Given the description of an element on the screen output the (x, y) to click on. 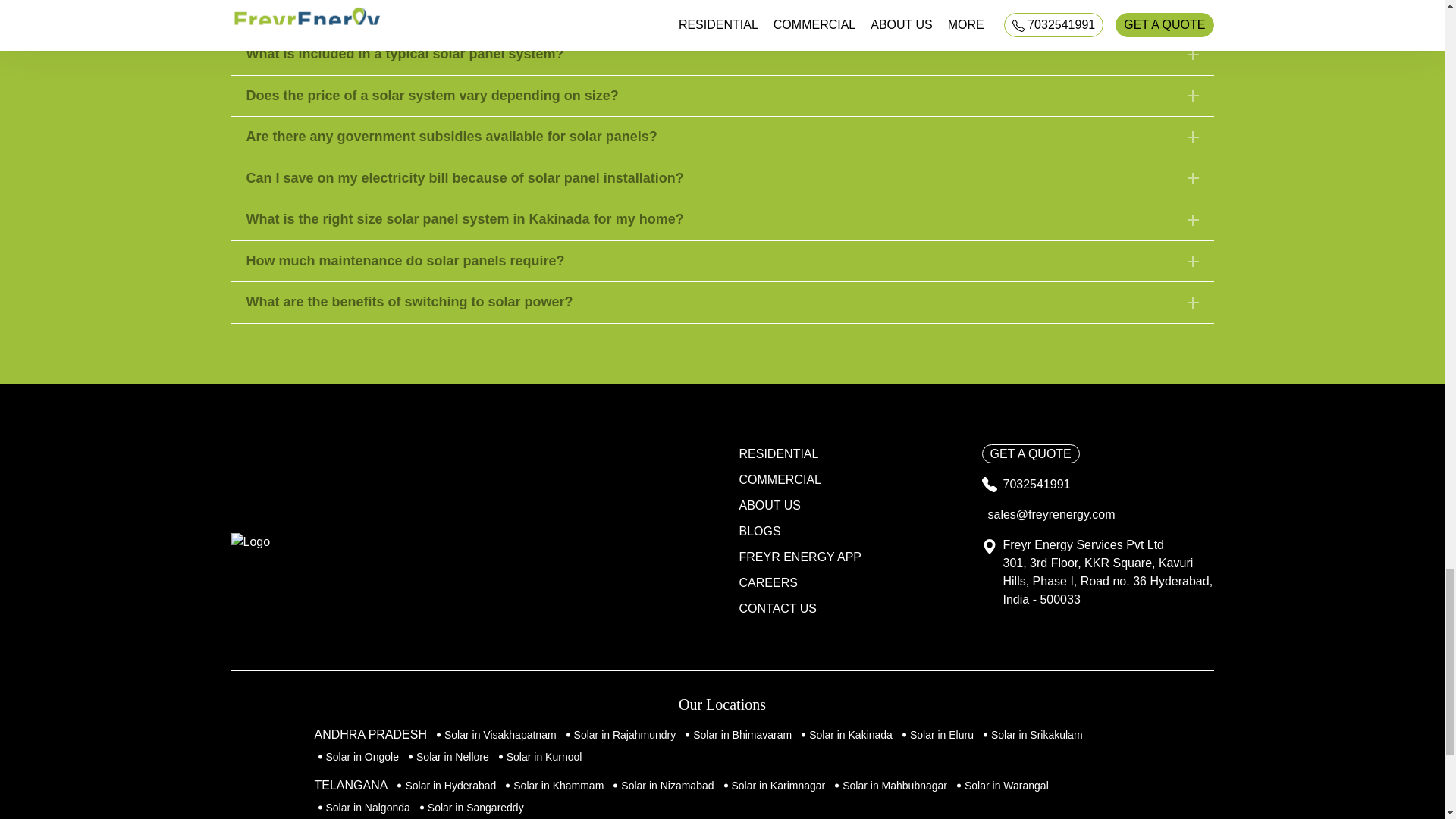
What are the benefits of switching to solar power? (721, 301)
CAREERS (767, 582)
Does the price of a solar system vary depending on size? (721, 96)
How much maintenance do solar panels require? (721, 260)
CONTACT US (777, 608)
BLOGS (758, 530)
What is included in a typical solar panel system? (721, 54)
